Given the description of an element on the screen output the (x, y) to click on. 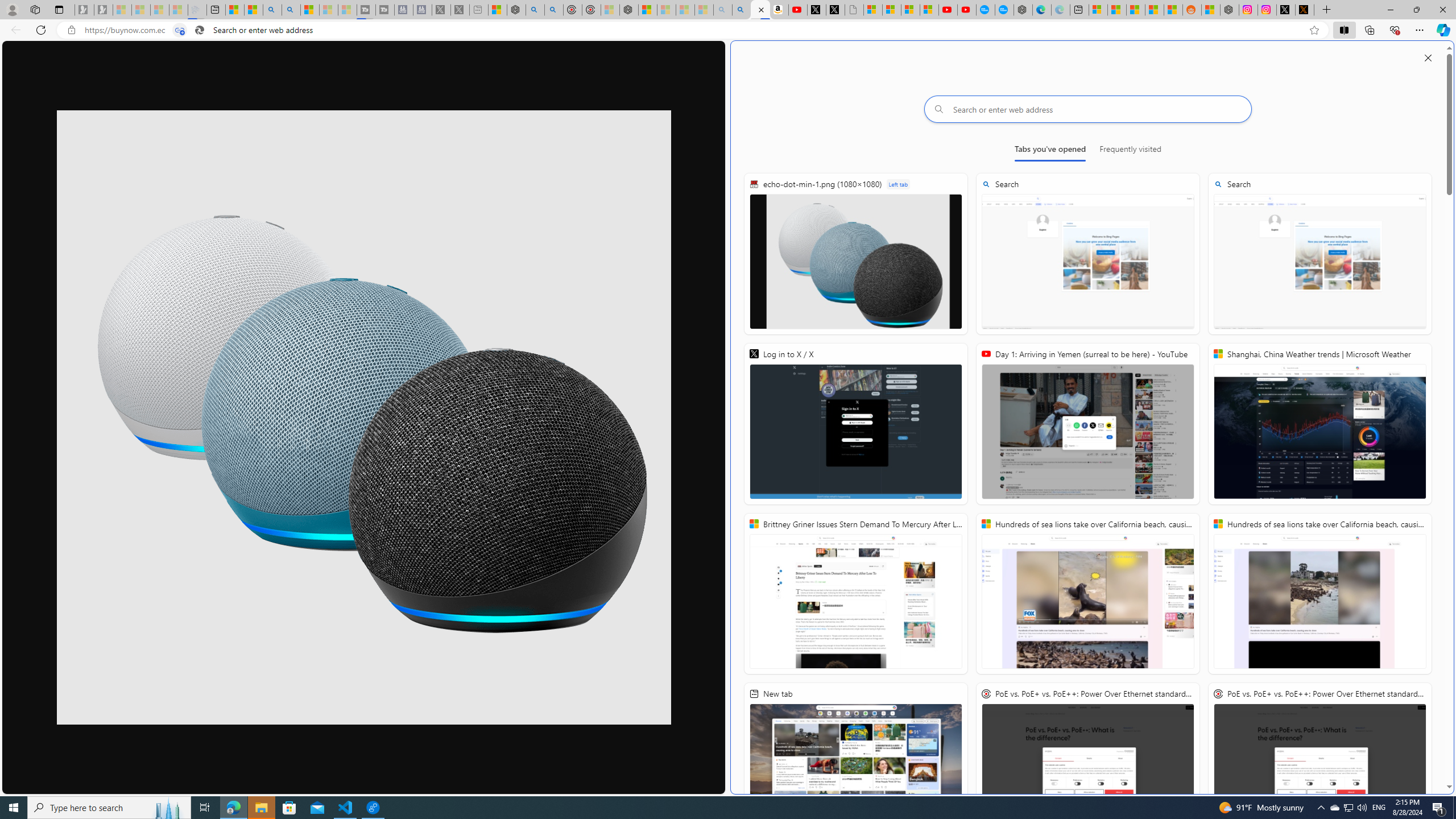
New tab - Sleeping (478, 9)
The most popular Google 'how to' searches (1004, 9)
To get missing image descriptions, open the context menu. (363, 417)
Search (1319, 253)
Tabs in split screen (179, 29)
Shanghai, China Weather trends | Microsoft Weather (1173, 9)
Day 1: Arriving in Yemen (surreal to be here) - YouTube (797, 9)
Microsoft account | Microsoft Account Privacy Settings (1098, 9)
Split screen (1344, 29)
Close (1442, 9)
help.x.com | 524: A timeout occurred (1304, 9)
